Given the description of an element on the screen output the (x, y) to click on. 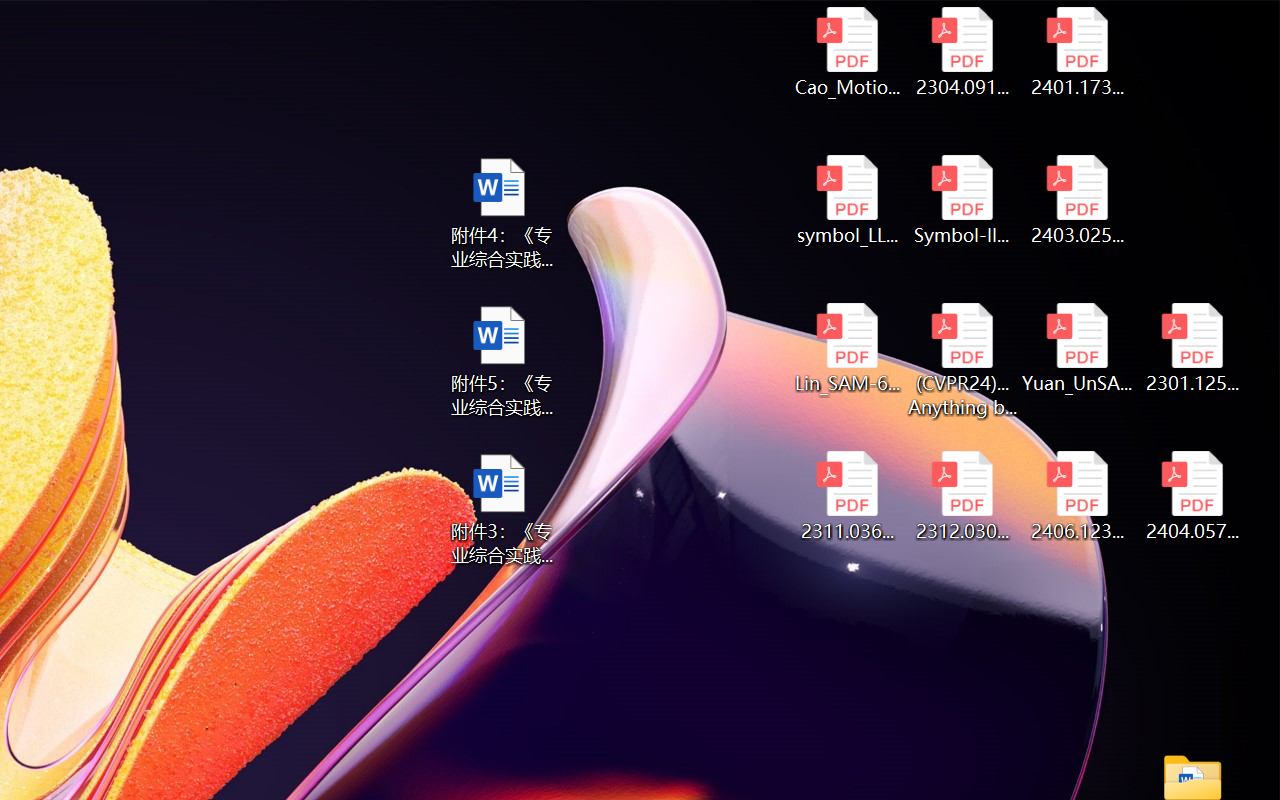
2406.12373v2.pdf (1077, 496)
